Given the description of an element on the screen output the (x, y) to click on. 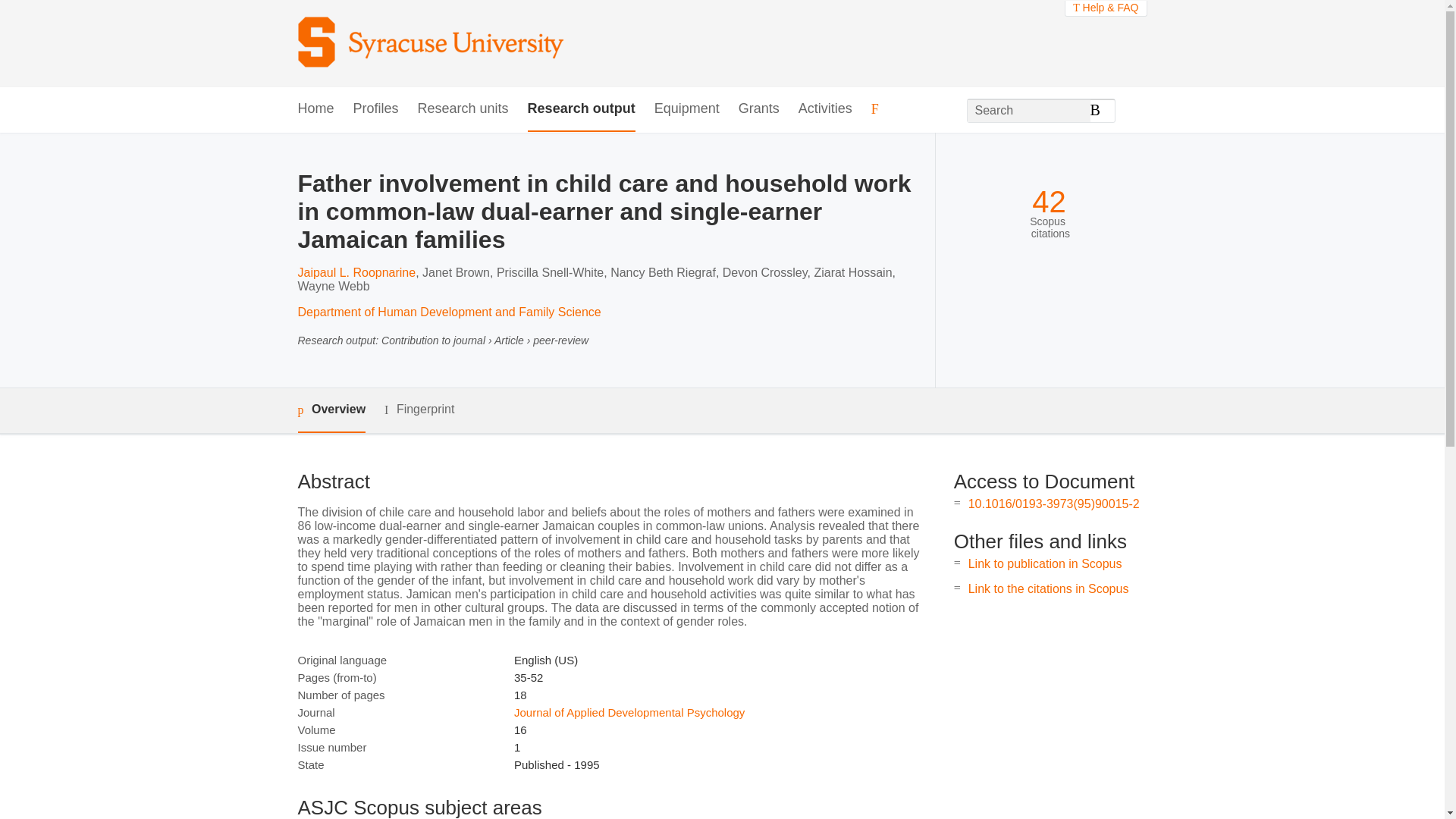
Equipment (686, 108)
Research output (580, 108)
Grants (758, 108)
Profiles (375, 108)
Activities (824, 108)
Overview (331, 410)
Link to the citations in Scopus (1048, 588)
42 (1048, 202)
Link to publication in Scopus (1045, 563)
